Given the description of an element on the screen output the (x, y) to click on. 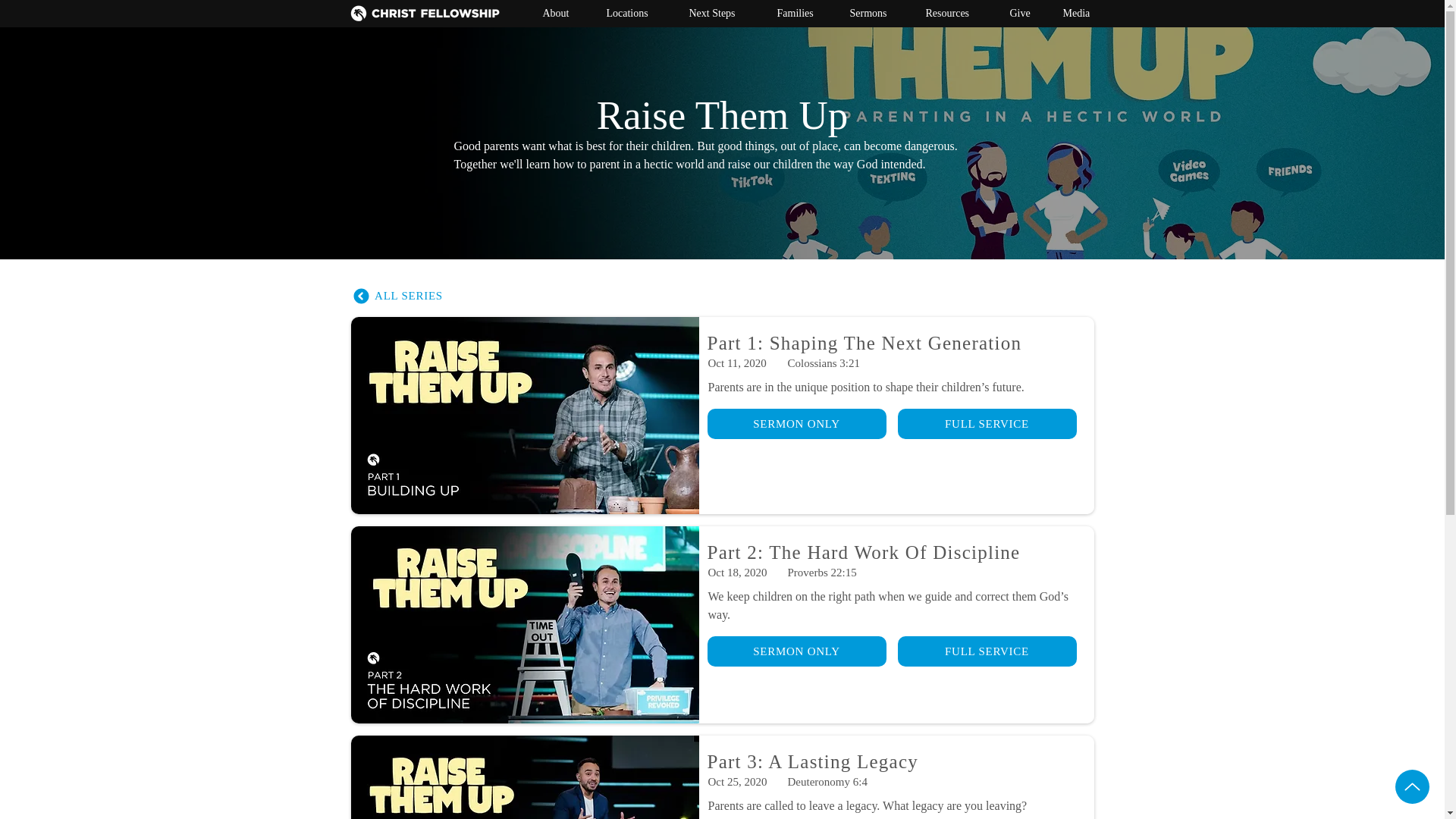
Raise pt.2.webp (523, 624)
FULL SERVICE (987, 651)
leading-logo-02.png (424, 13)
Raise pt.1.jpeg (523, 415)
SERMON ONLY (795, 651)
ALL SERIES (397, 295)
SERMON ONLY (795, 423)
Resources (957, 13)
Give (1025, 13)
Locations (636, 13)
